Given the description of an element on the screen output the (x, y) to click on. 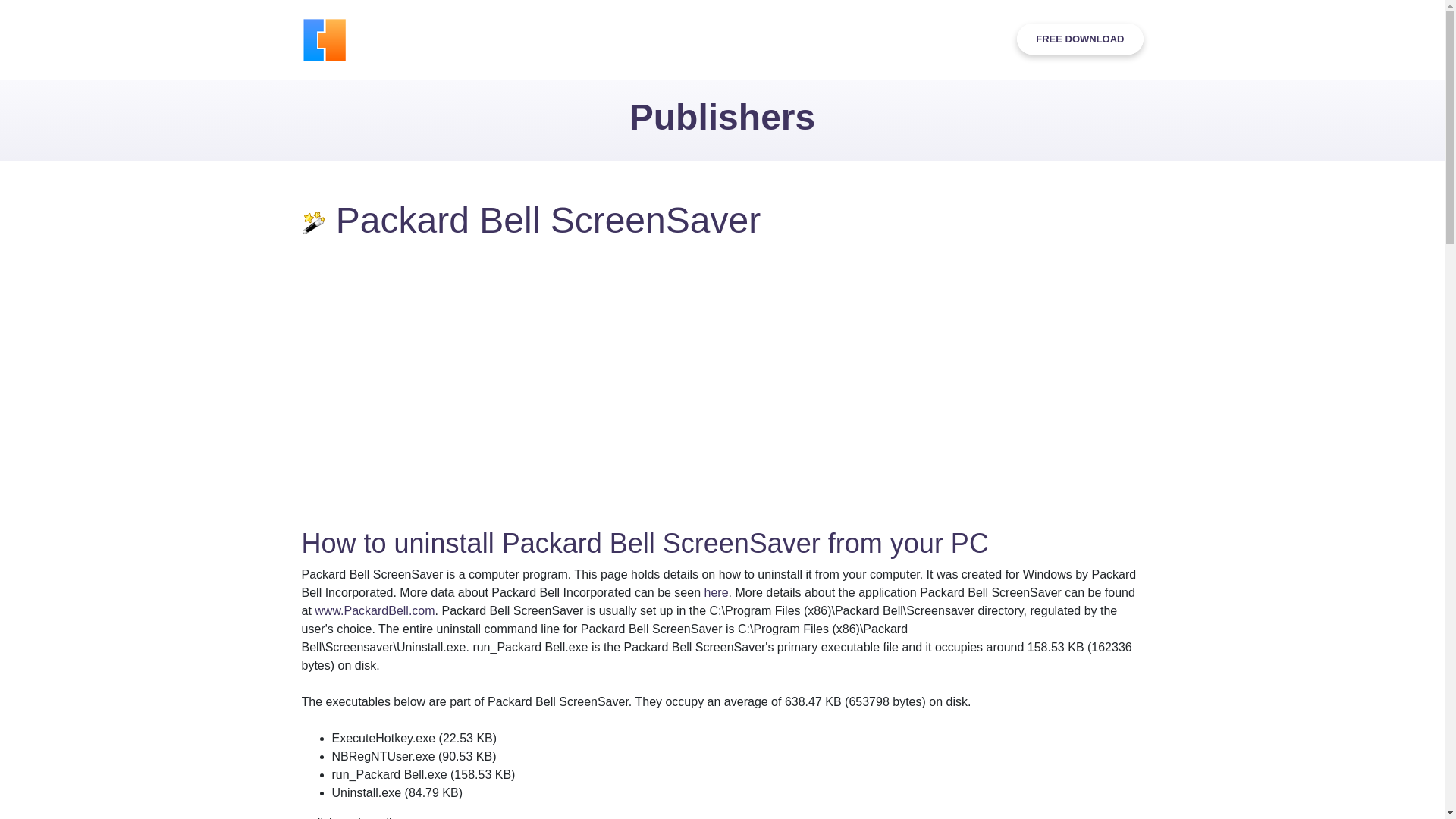
...click to view all... (351, 817)
Features (553, 39)
Home (495, 39)
Screens (666, 39)
Contact (916, 39)
Screens (666, 39)
Pricing (810, 39)
Testimonials (740, 39)
Team (862, 39)
More (975, 39)
